Given the description of an element on the screen output the (x, y) to click on. 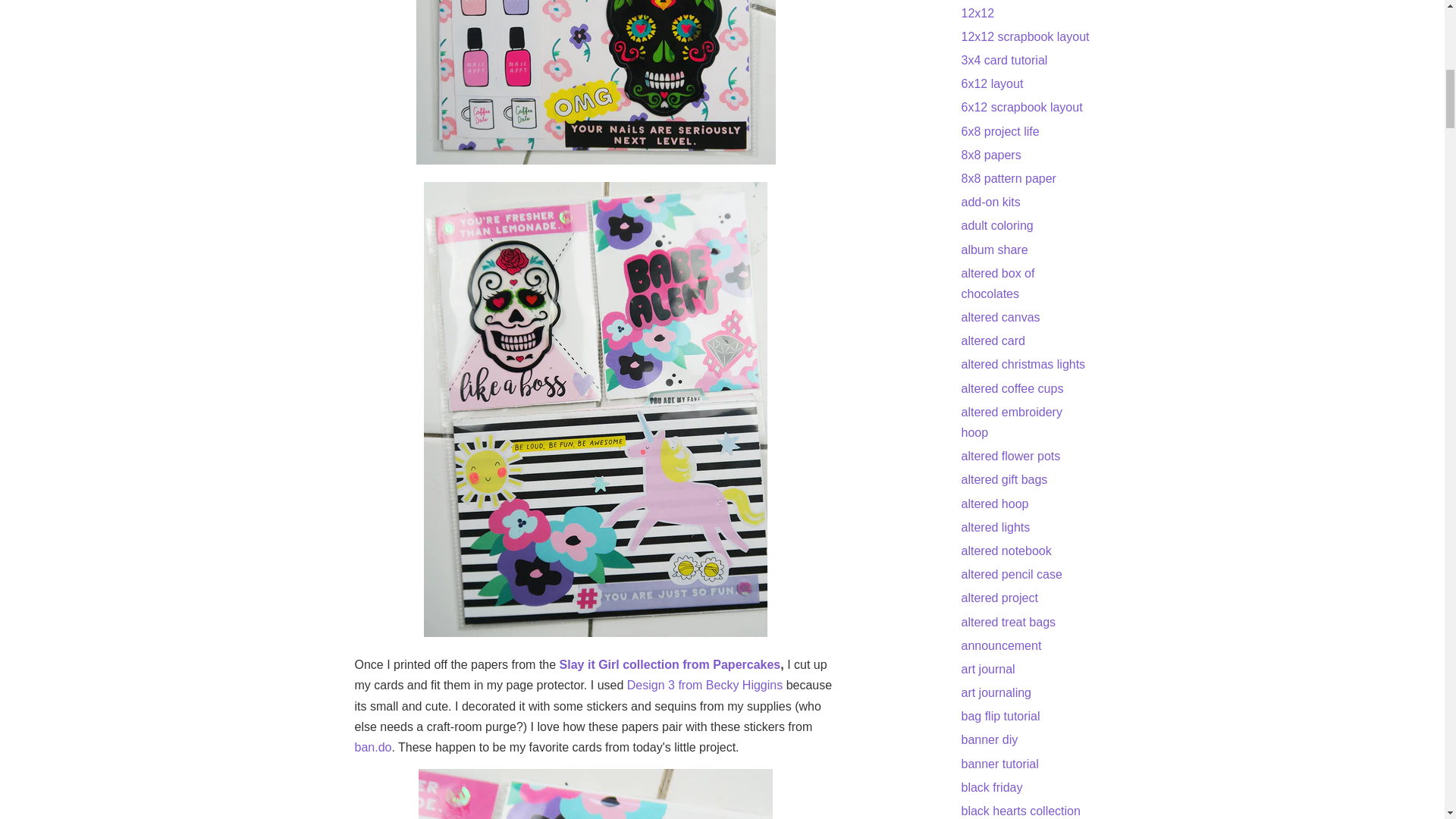
Show articles tagged add-on kits (990, 201)
Show articles tagged 3x4 card tutorial (1004, 60)
Show articles tagged altered box of chocolates (997, 283)
Show articles tagged album share (993, 249)
Show articles tagged 8x8 papers (991, 154)
Show articles tagged 8x8 pattern paper (1008, 178)
Show articles tagged altered canvas (1000, 317)
Show articles tagged 6x8 project life (999, 131)
Show articles tagged 6x12 scrapbook layout (1021, 106)
Show articles tagged 6x12 layout (991, 83)
